Given the description of an element on the screen output the (x, y) to click on. 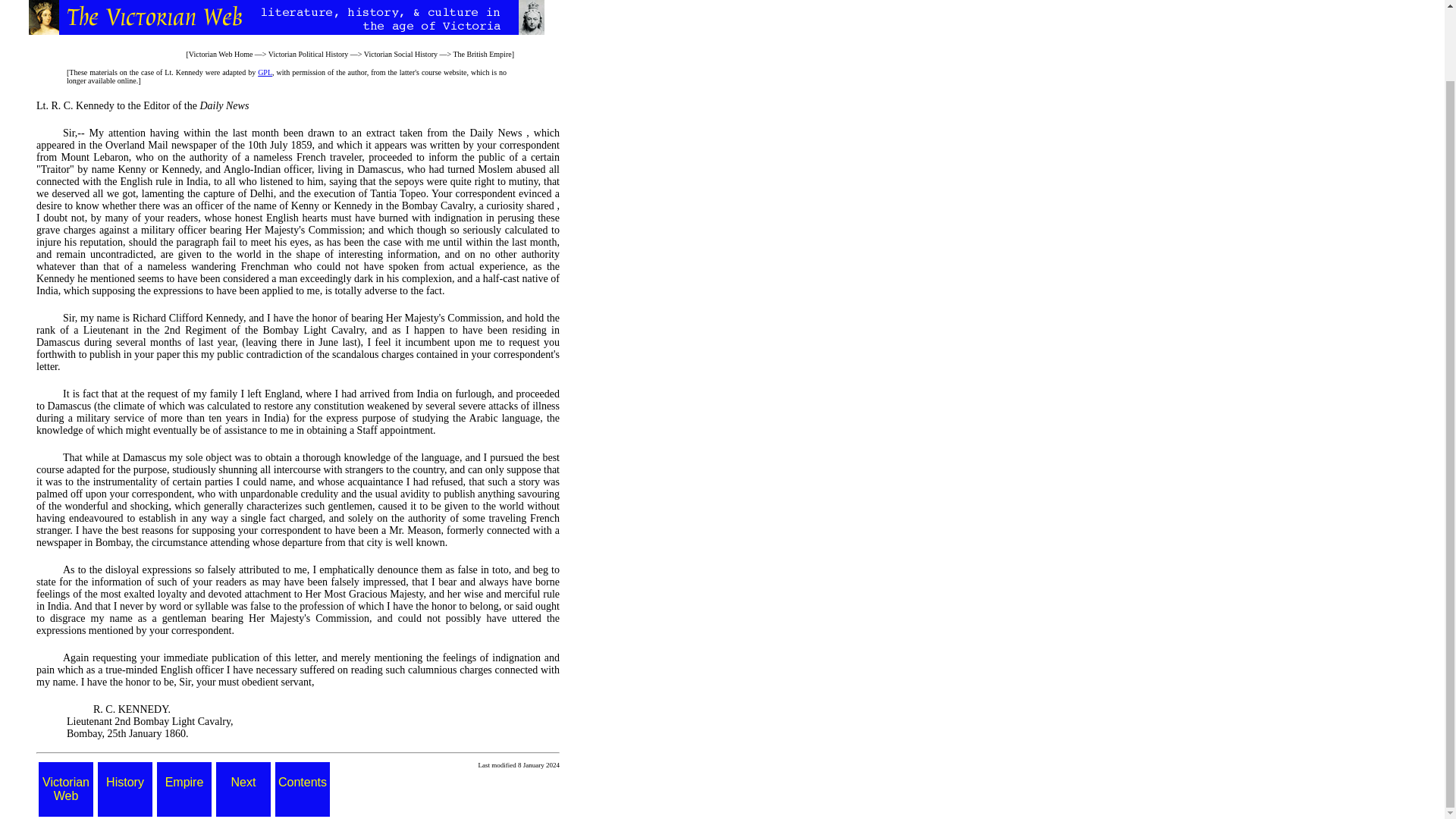
GPL (264, 71)
Victorian Social History (401, 53)
Victorian Web Home (221, 53)
Victorian Political History (308, 53)
The British Empire (481, 53)
